Given the description of an element on the screen output the (x, y) to click on. 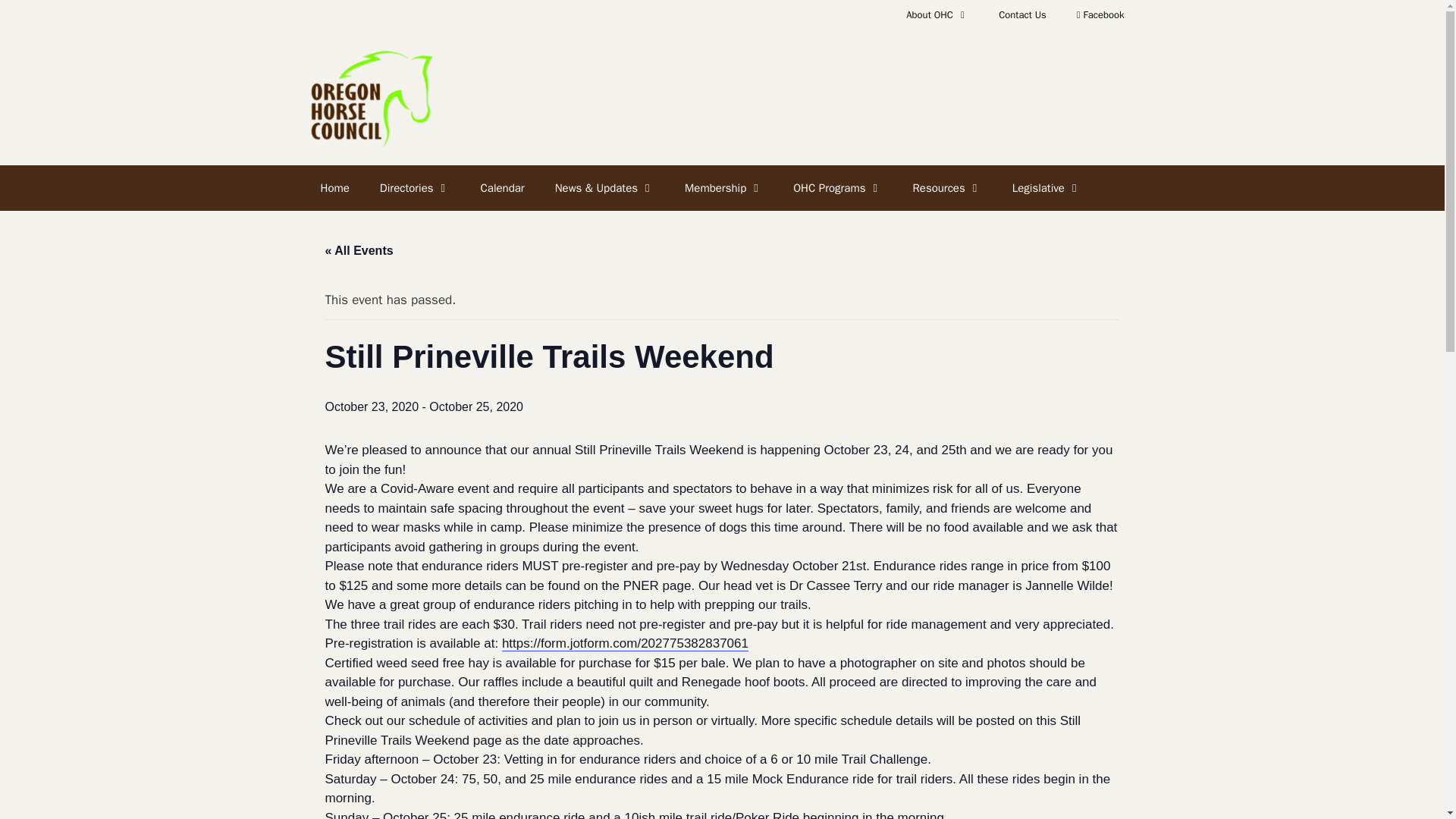
Contact Us (1022, 15)
Home (334, 187)
Membership (723, 187)
Directories (415, 187)
Calendar (502, 187)
OHC Programs (836, 187)
About OHC (937, 15)
Facebook (1100, 15)
